Given the description of an element on the screen output the (x, y) to click on. 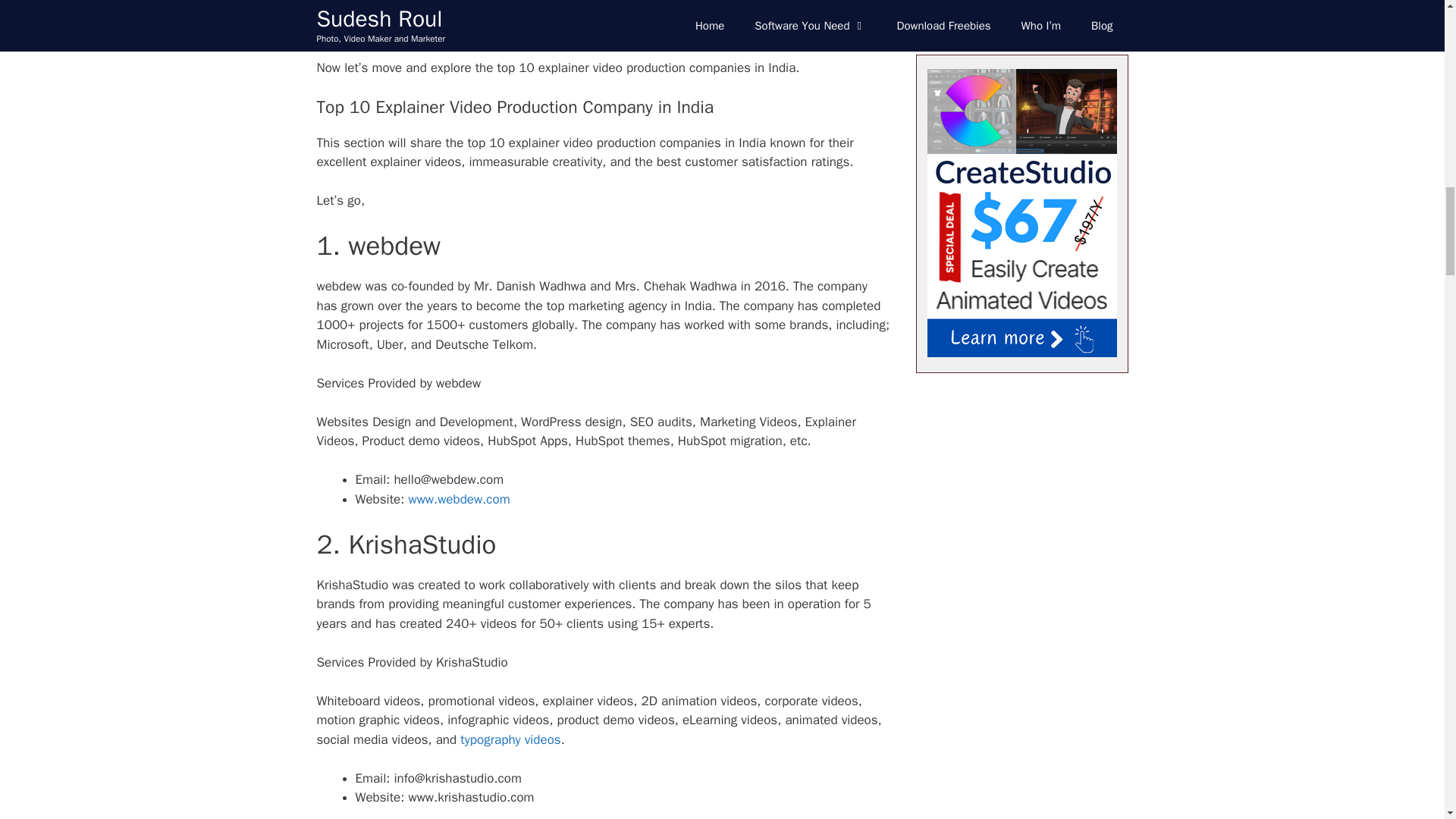
review platforms (724, 10)
www.webdew.com (458, 498)
